Given the description of an element on the screen output the (x, y) to click on. 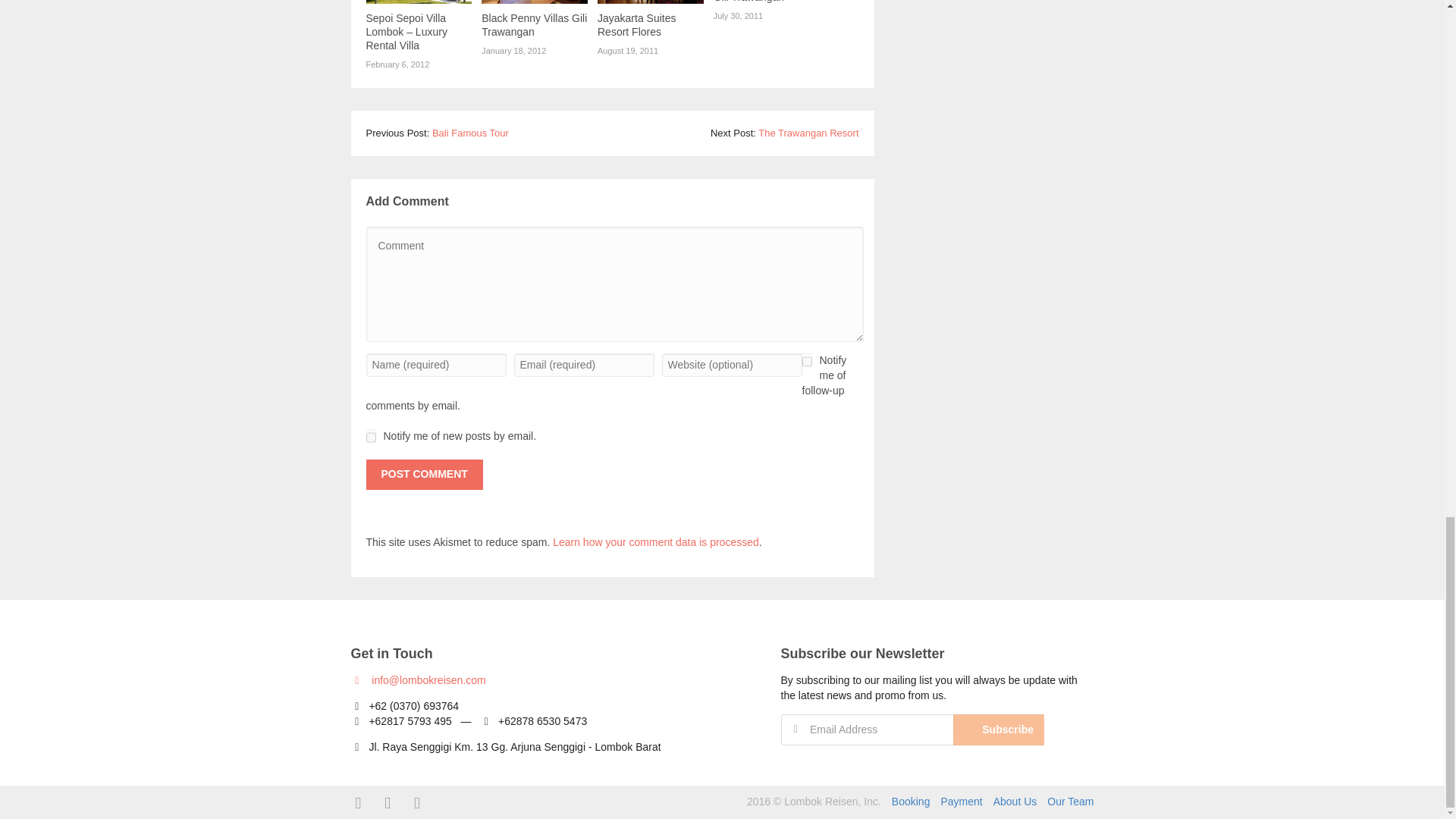
Subscribe (998, 729)
